Given the description of an element on the screen output the (x, y) to click on. 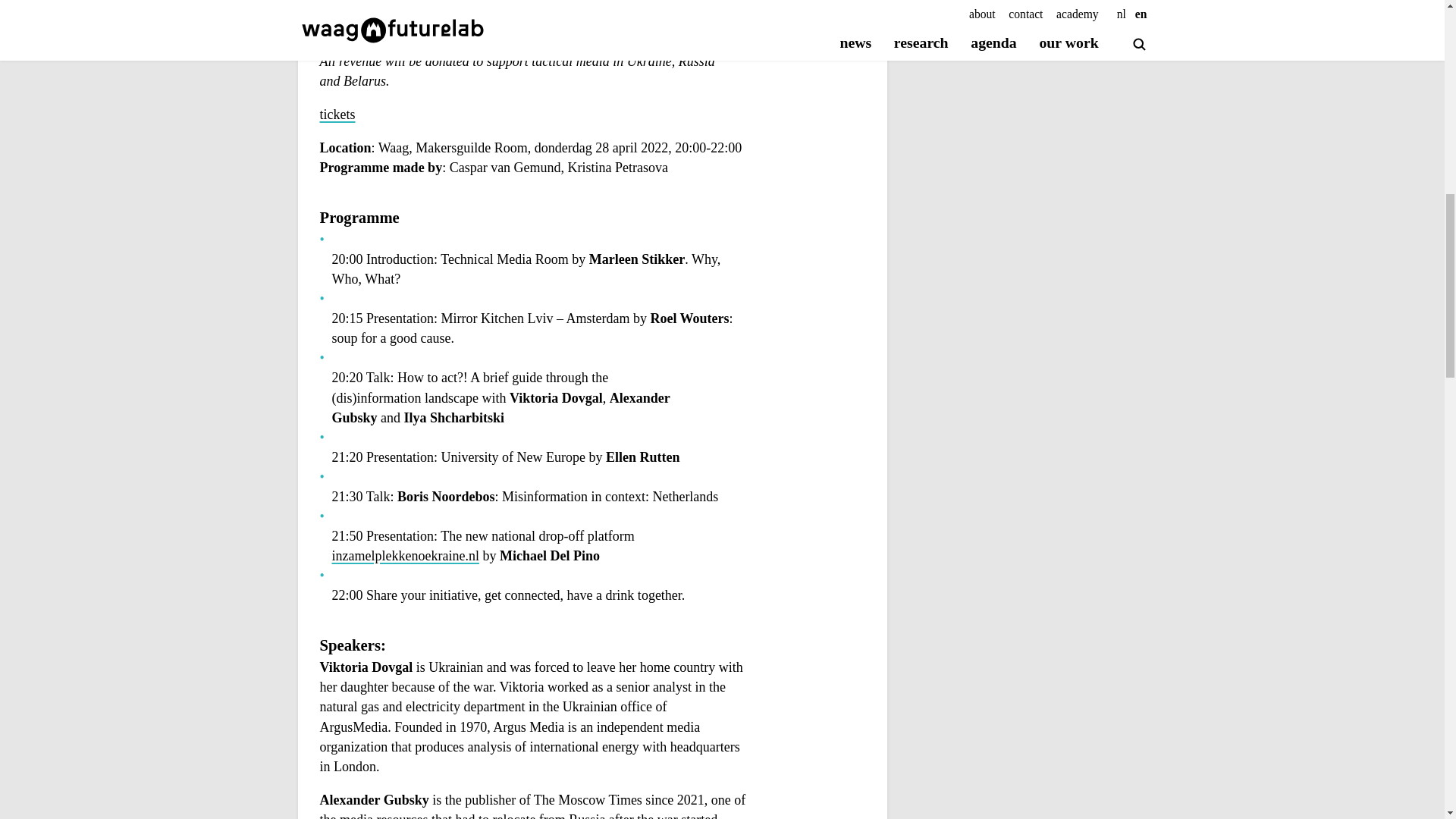
tickets (337, 115)
inzamelplekkenoekraine.nl (485, 565)
